Given the description of an element on the screen output the (x, y) to click on. 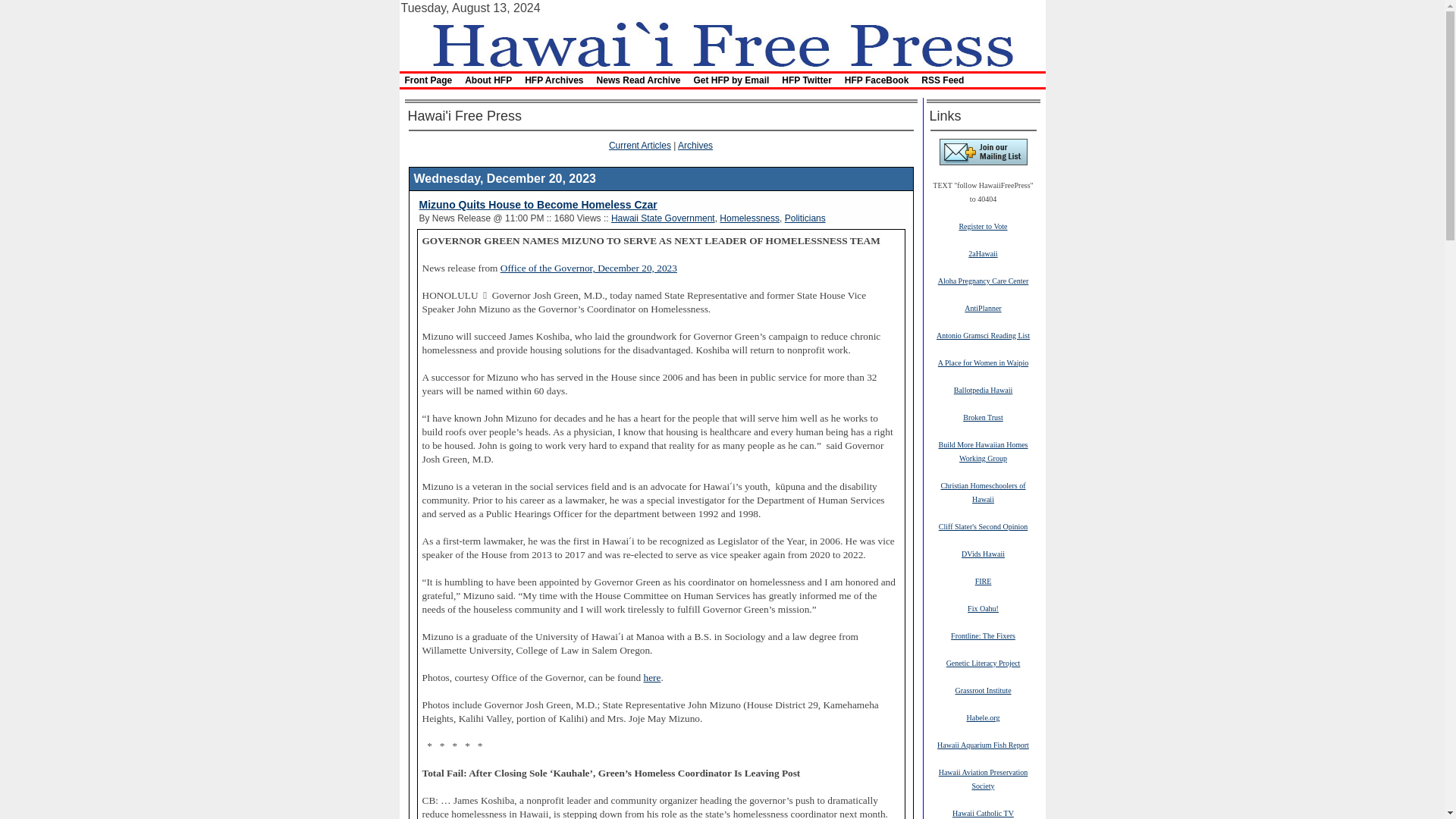
Cliff Slater's Second Opinion (983, 525)
Build More Hawaiian Homes Working Group (982, 450)
Hawaii Catholic TV (982, 812)
Mizuno Quits House to Become Homeless Czar (537, 204)
Fix Oahu! (983, 607)
Hawaii Free Press (721, 42)
Hawaii Aviation Preservation Society (983, 778)
Office of the Governor, December 20, 2023 (588, 267)
Grassroot Institute (982, 689)
Habele.org (983, 716)
